Given the description of an element on the screen output the (x, y) to click on. 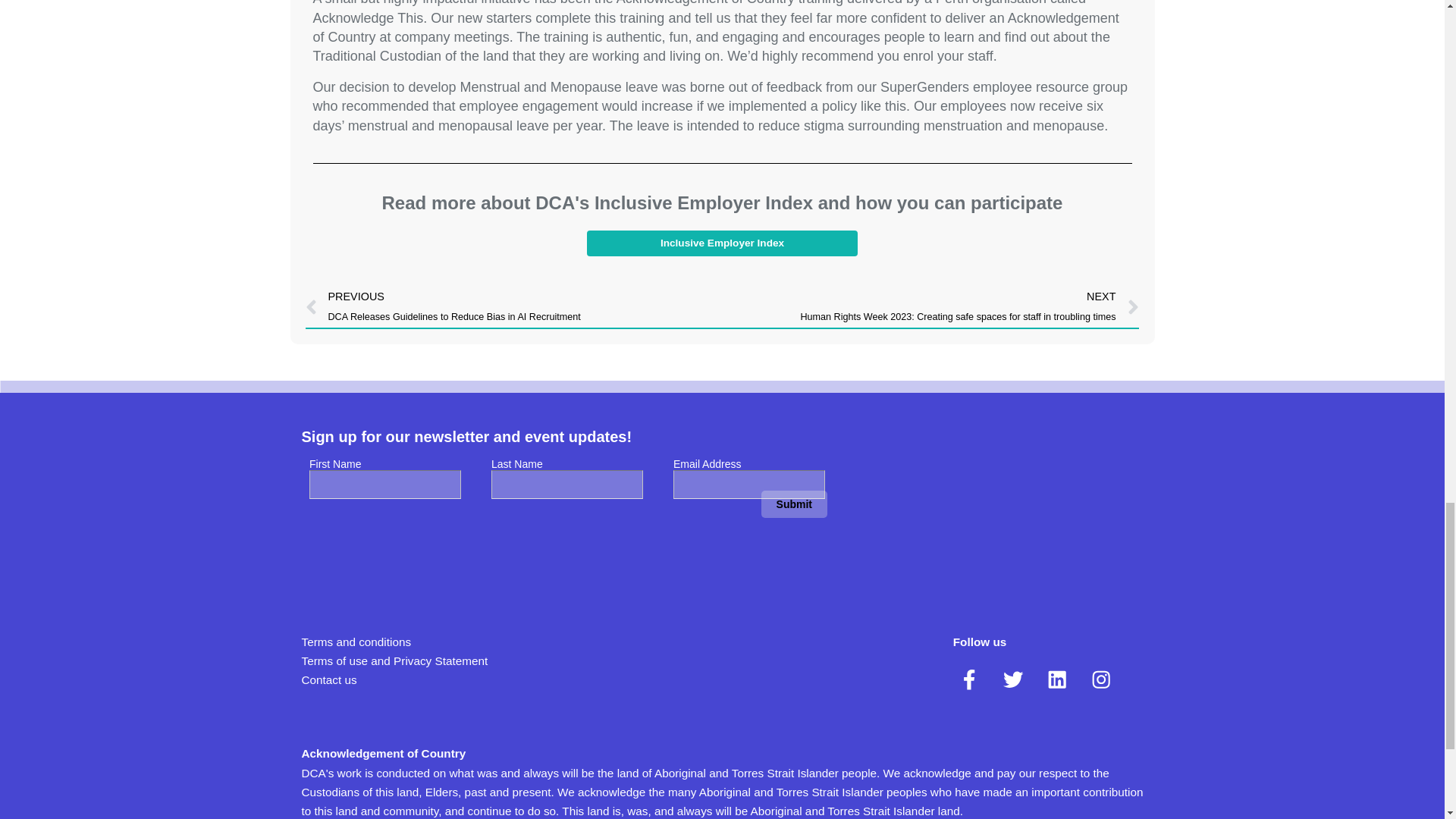
Facebook (968, 679)
Twitter (1013, 679)
LinkedIn (1056, 679)
Instagram (1100, 679)
